Given the description of an element on the screen output the (x, y) to click on. 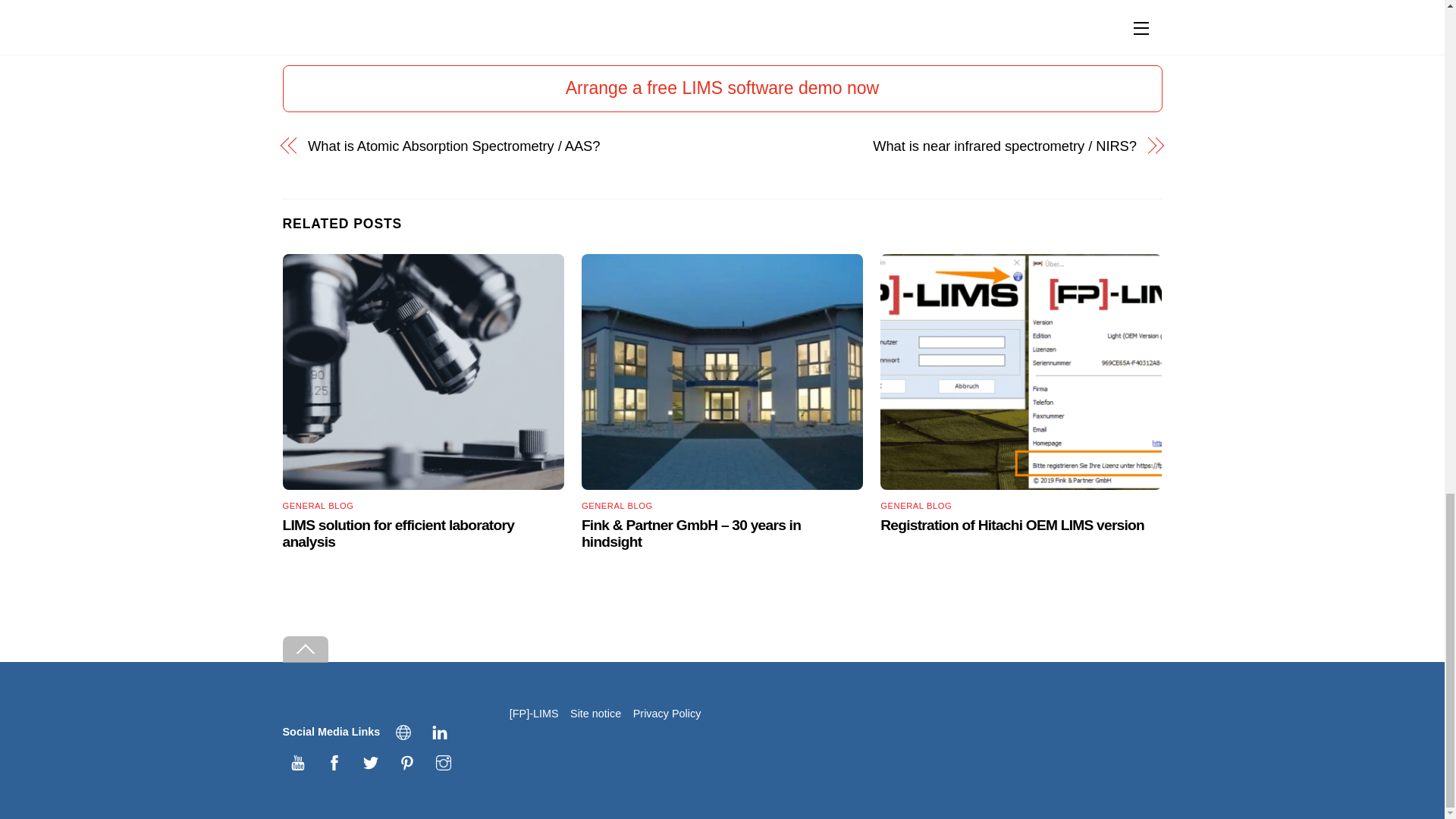
Back To Top (304, 649)
Registration of Hitachi OEM LIMS version (1012, 524)
GENERAL BLOG (317, 505)
LIMS solution for efficient laboratory analysis (397, 532)
LIMS solution Laboratory software (422, 371)
Site notice (595, 713)
Arrange a free LIMS software demo now (721, 88)
GENERAL BLOG (616, 505)
GENERAL BLOG (916, 505)
Registration of Hitachi OEM LIMS version (1020, 371)
Fink Partner HQ (721, 371)
Privacy Policy (667, 713)
